Given the description of an element on the screen output the (x, y) to click on. 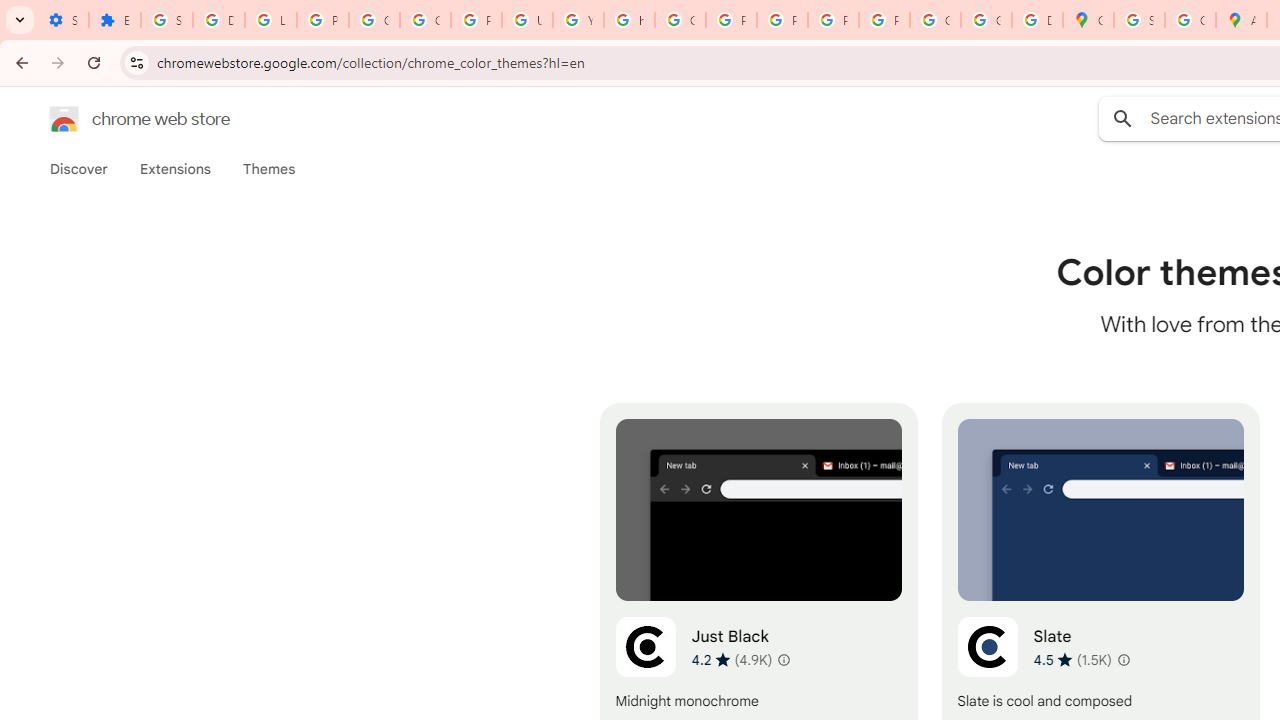
Google Account Help (374, 20)
Delete photos & videos - Computer - Google Photos Help (218, 20)
Learn more about results and reviews "Slate" (1122, 659)
Google Maps (1087, 20)
YouTube (578, 20)
Settings - On startup (63, 20)
Sign in - Google Accounts (166, 20)
Average rating 4.2 out of 5 stars. 4.9K ratings. (732, 659)
